Given the description of an element on the screen output the (x, y) to click on. 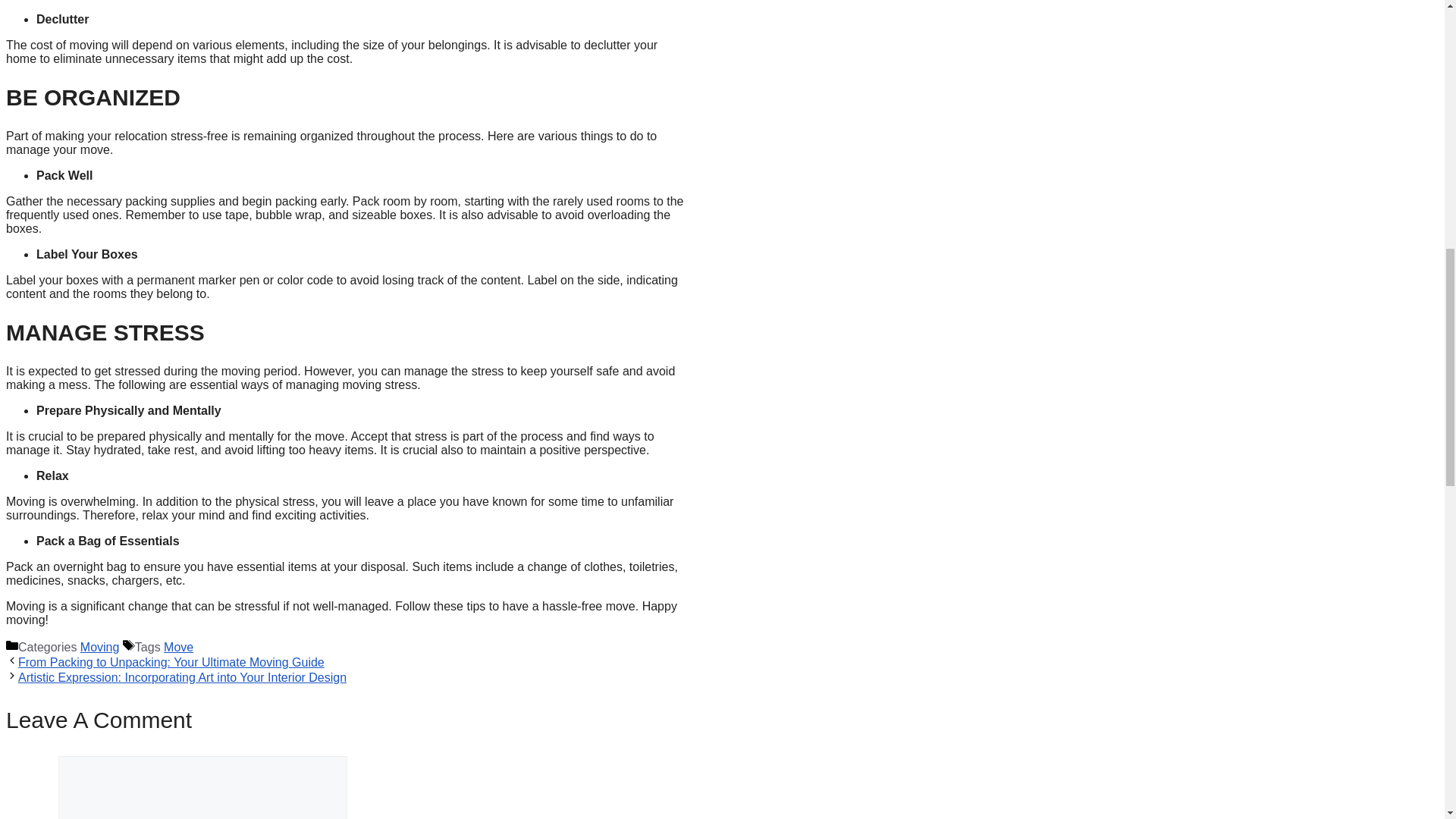
Move (178, 646)
Scroll back to top (1406, 720)
Moving (99, 646)
From Packing to Unpacking: Your Ultimate Moving Guide (170, 662)
